Given the description of an element on the screen output the (x, y) to click on. 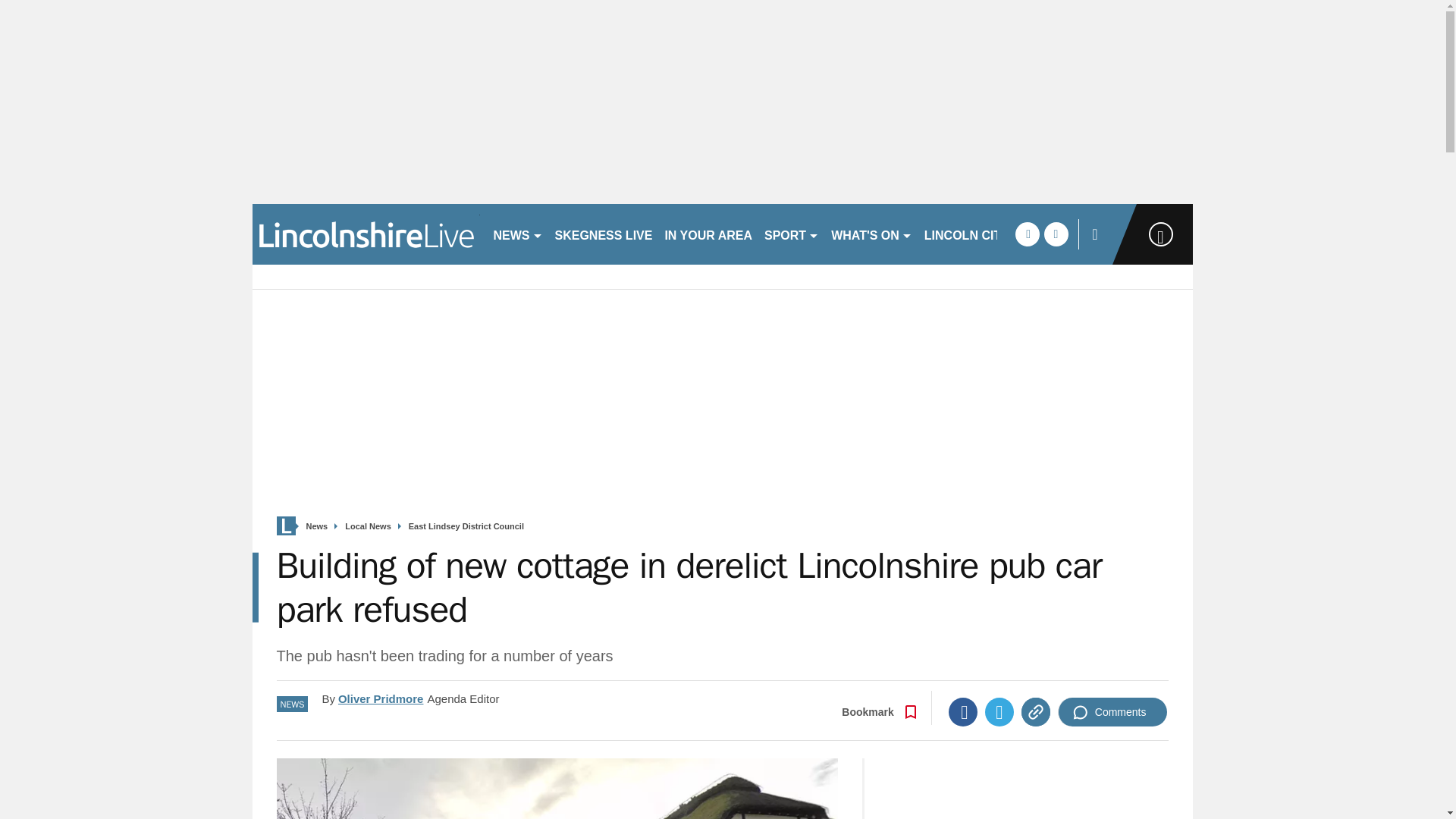
LINCOLN CITY FC (975, 233)
Twitter (999, 711)
NEWS (517, 233)
SPORT (791, 233)
SKEGNESS LIVE (603, 233)
WHAT'S ON (871, 233)
facebook (1026, 233)
IN YOUR AREA (708, 233)
Comments (1112, 711)
twitter (1055, 233)
Facebook (962, 711)
lincolnshirelive (365, 233)
